Given the description of an element on the screen output the (x, y) to click on. 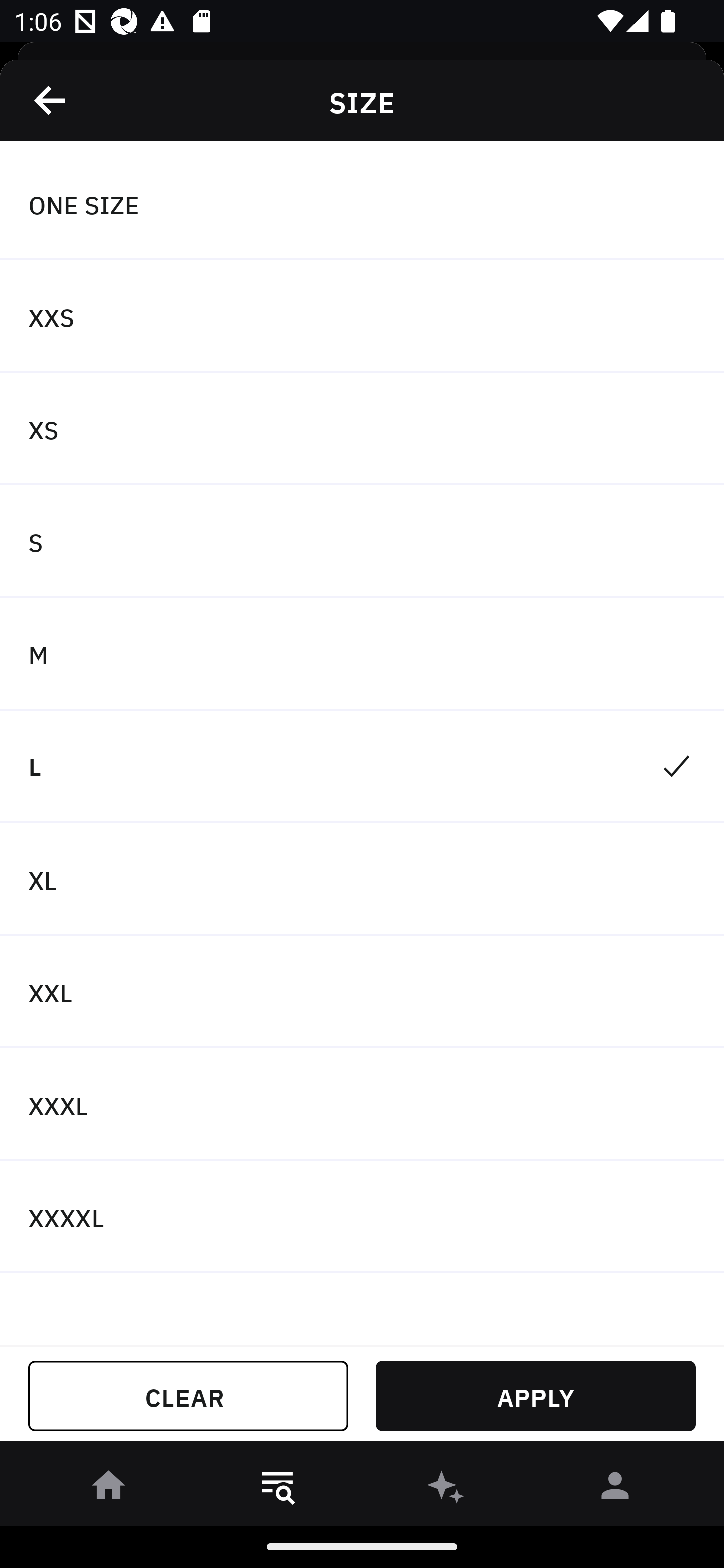
 (50, 100)
ONE SIZE (362, 203)
XXS (362, 316)
XS (362, 429)
S (362, 541)
M (362, 653)
L  (362, 766)
XL (362, 879)
XXL (362, 992)
XXXL (362, 1104)
XXXXL (362, 1216)
CLEAR  (188, 1396)
APPLY (535, 1396)
󰋜 (108, 1488)
󱎸 (277, 1488)
󰫢 (446, 1488)
󰀄 (615, 1488)
